Given the description of an element on the screen output the (x, y) to click on. 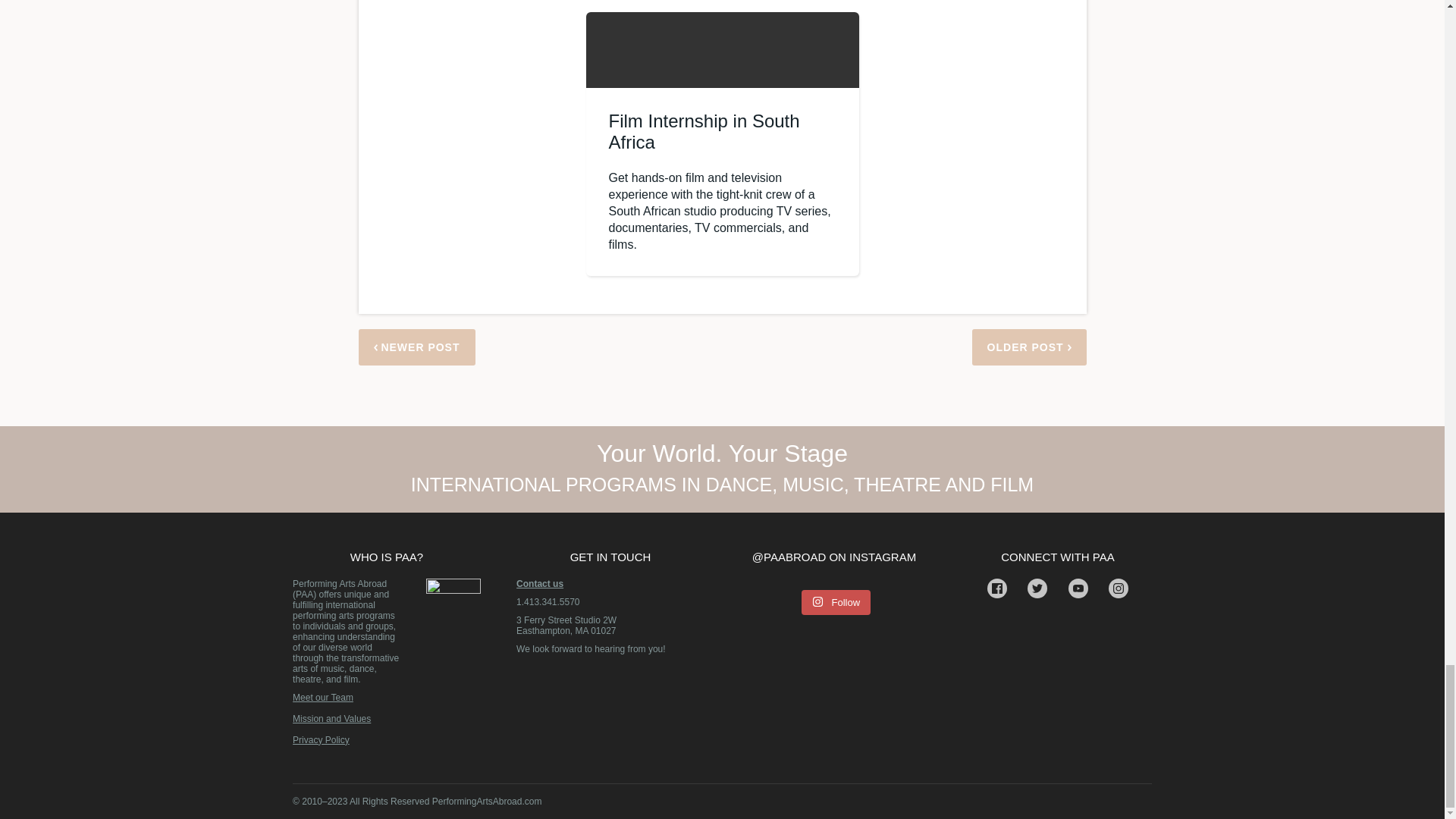
Film Internship in South Africa (703, 131)
